Given the description of an element on the screen output the (x, y) to click on. 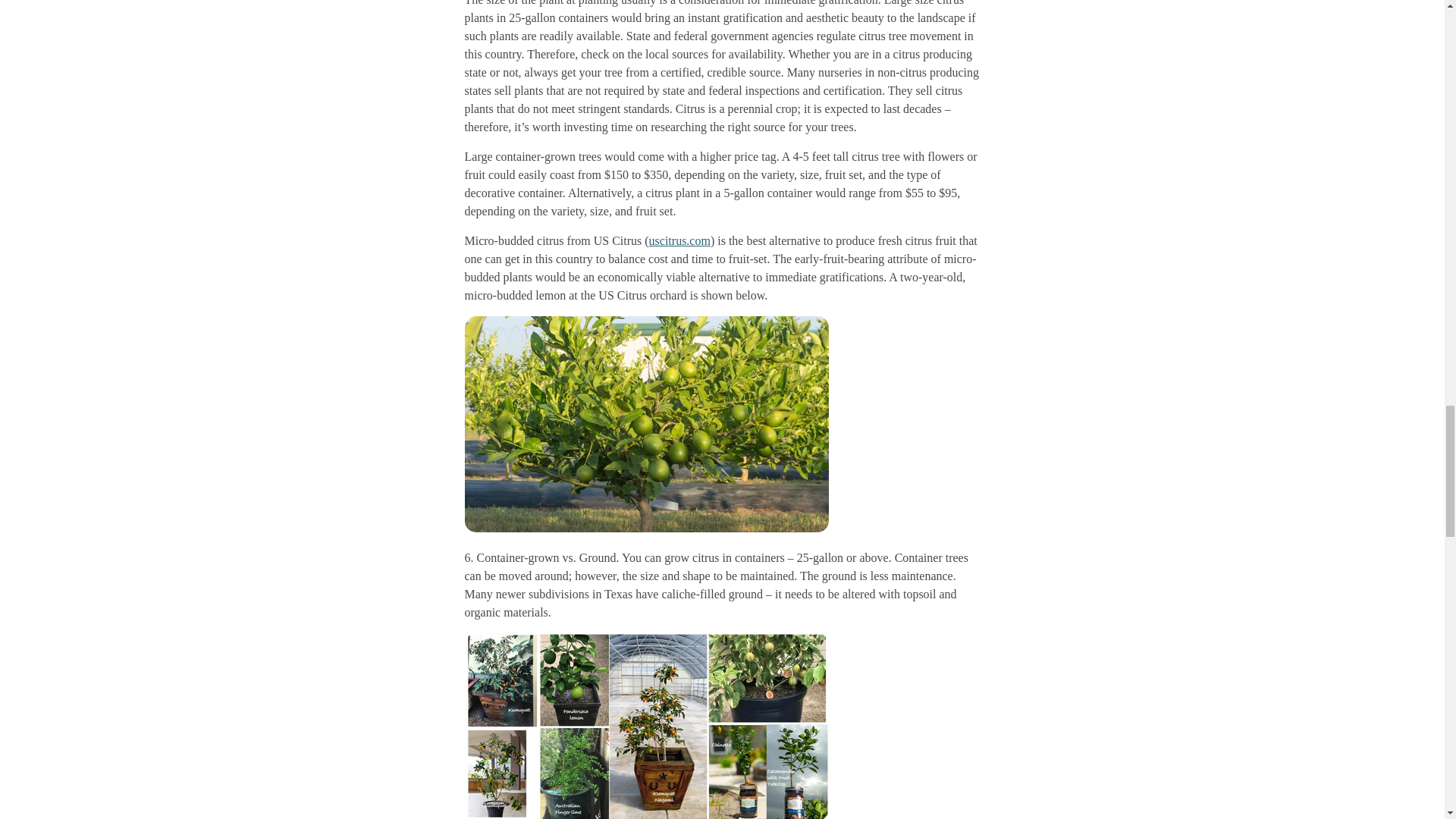
uscitrus.com (679, 240)
US Citrus (679, 240)
Page 3 (721, 110)
